Given the description of an element on the screen output the (x, y) to click on. 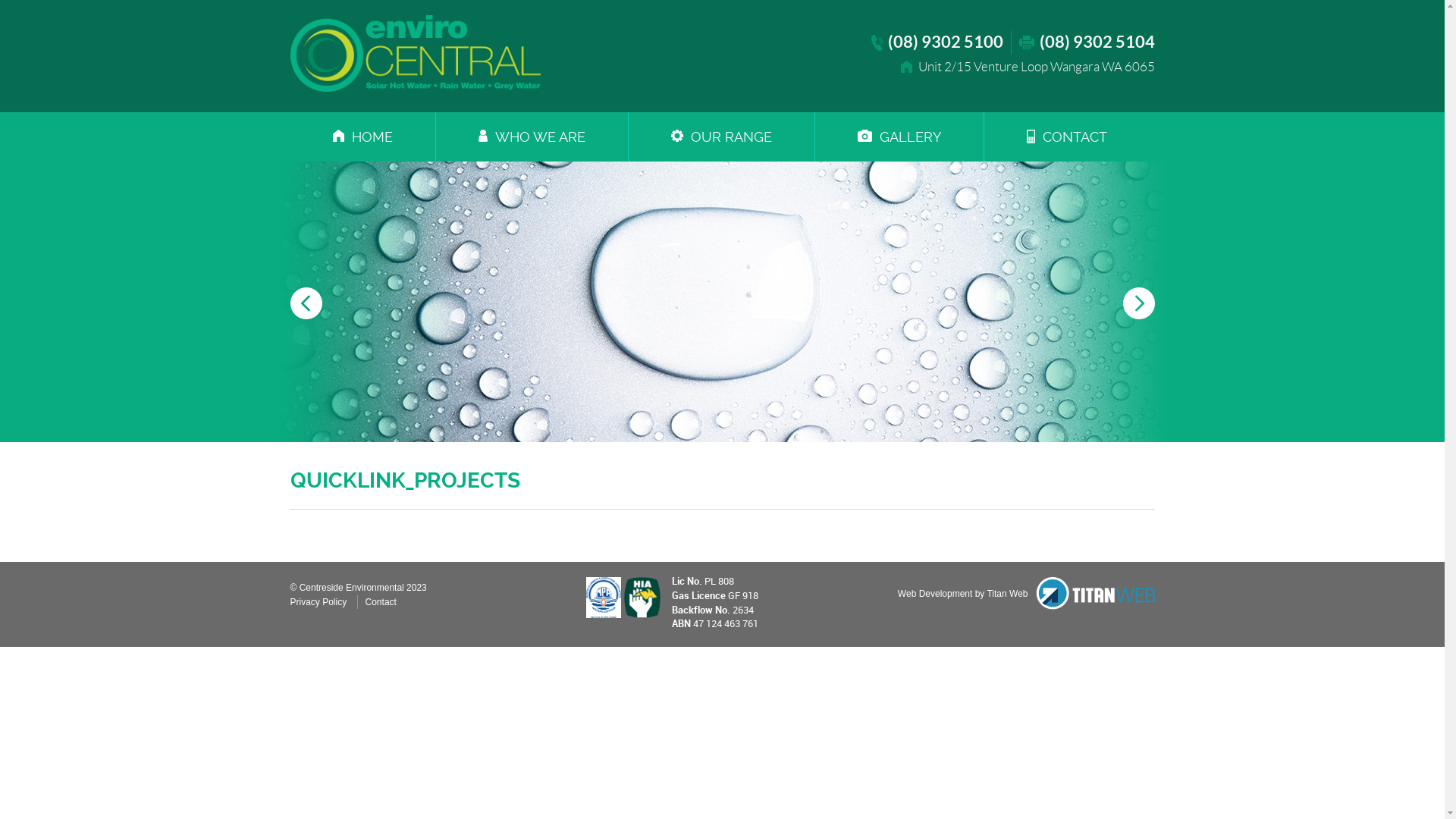
CONTACT Element type: text (1066, 136)
Previous Element type: text (305, 303)
Centreside Environmental Element type: hover (414, 53)
WHO WE ARE Element type: text (530, 136)
HOME Element type: text (362, 136)
Privacy Policy Element type: text (317, 601)
Web Development by Titan Web Element type: text (962, 593)
Contact Element type: text (380, 601)
(08) 9302 5100 Element type: text (936, 42)
OUR RANGE Element type: text (720, 136)
GALLERY Element type: text (898, 136)
Next Element type: text (1138, 303)
Titan Web Element type: hover (1094, 593)
